Given the description of an element on the screen output the (x, y) to click on. 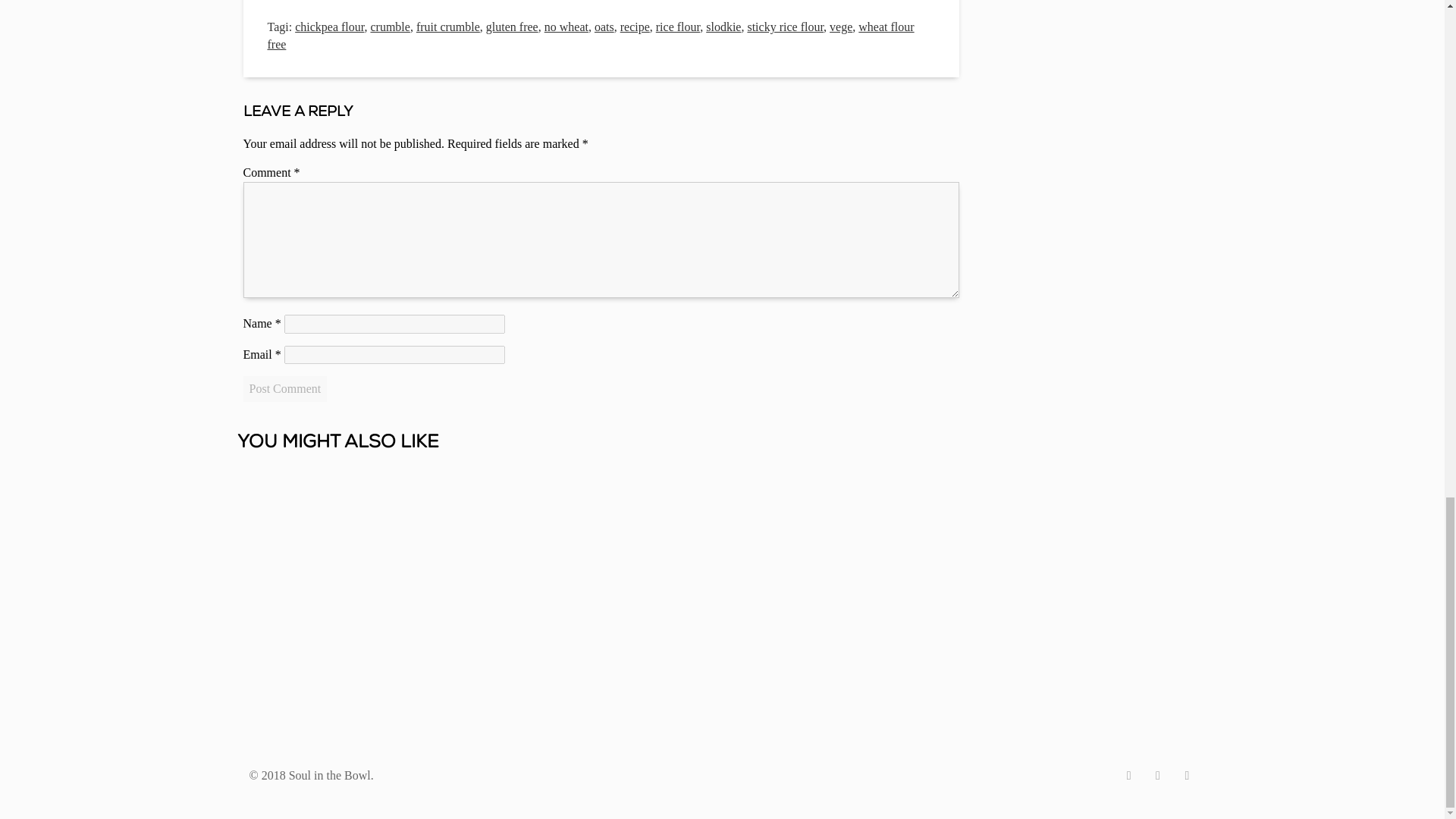
Post Comment (284, 388)
sticky rice flour (785, 26)
Post Comment (284, 388)
crumble (389, 26)
rice flour (678, 26)
gluten free (512, 26)
slodkie (723, 26)
oats (604, 26)
wheat flour free (590, 34)
vege (840, 26)
